Given the description of an element on the screen output the (x, y) to click on. 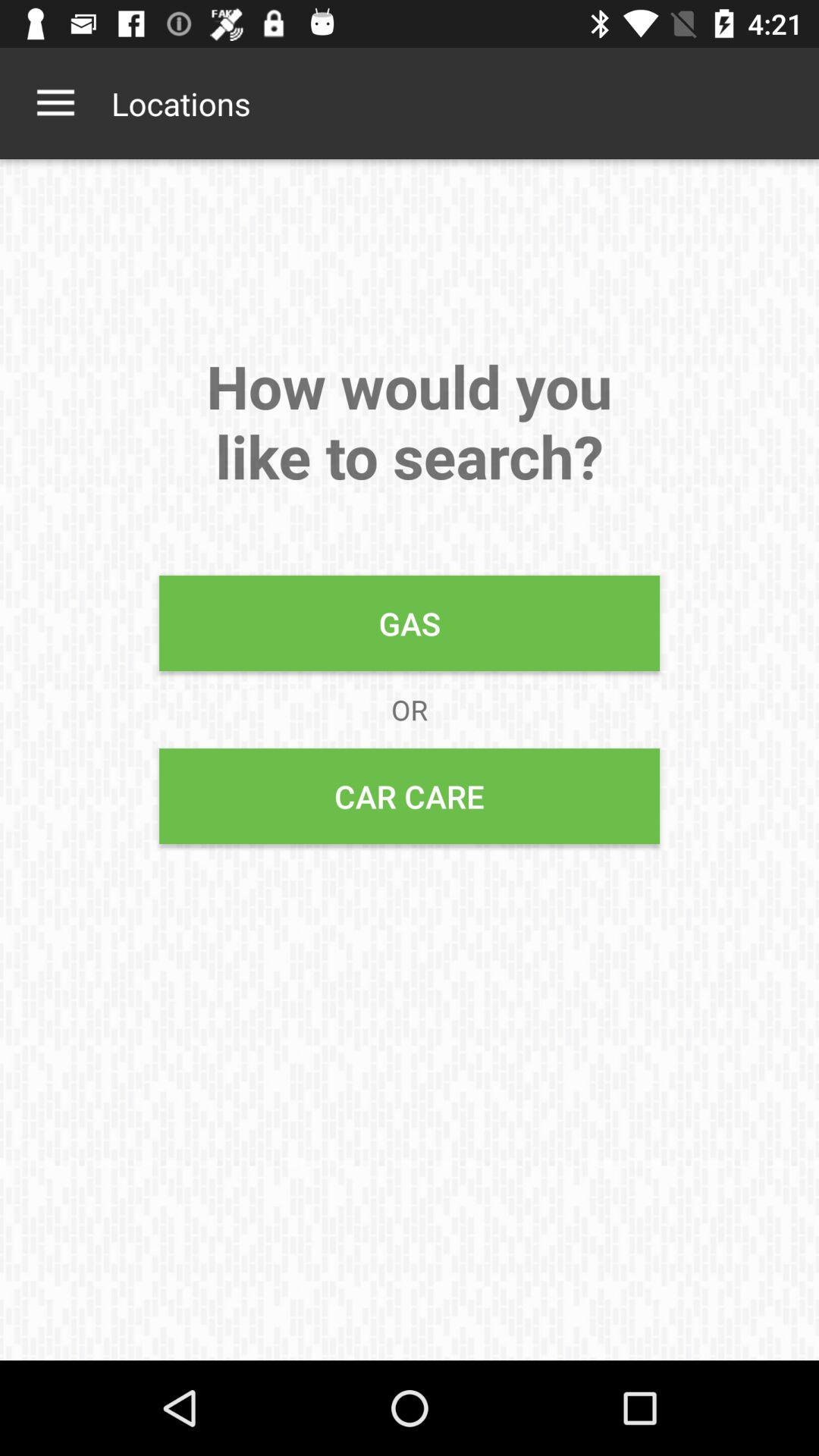
press item below how would you icon (409, 623)
